Given the description of an element on the screen output the (x, y) to click on. 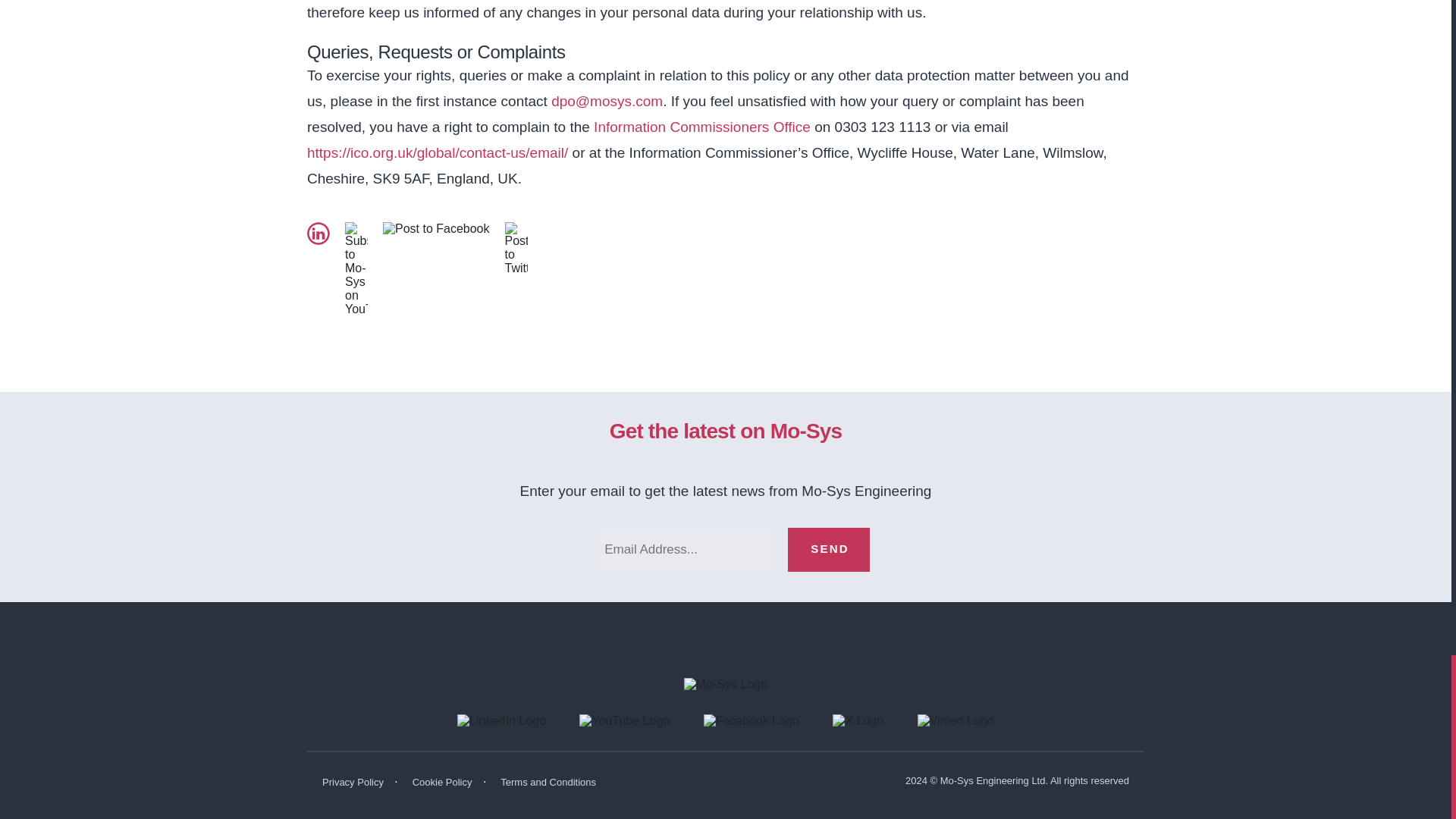
Facebook (753, 720)
YouTube (625, 720)
LinkedIn (503, 720)
SEND (828, 549)
Vimeo (955, 720)
Information Commissioners Office (702, 126)
X (858, 720)
